Given the description of an element on the screen output the (x, y) to click on. 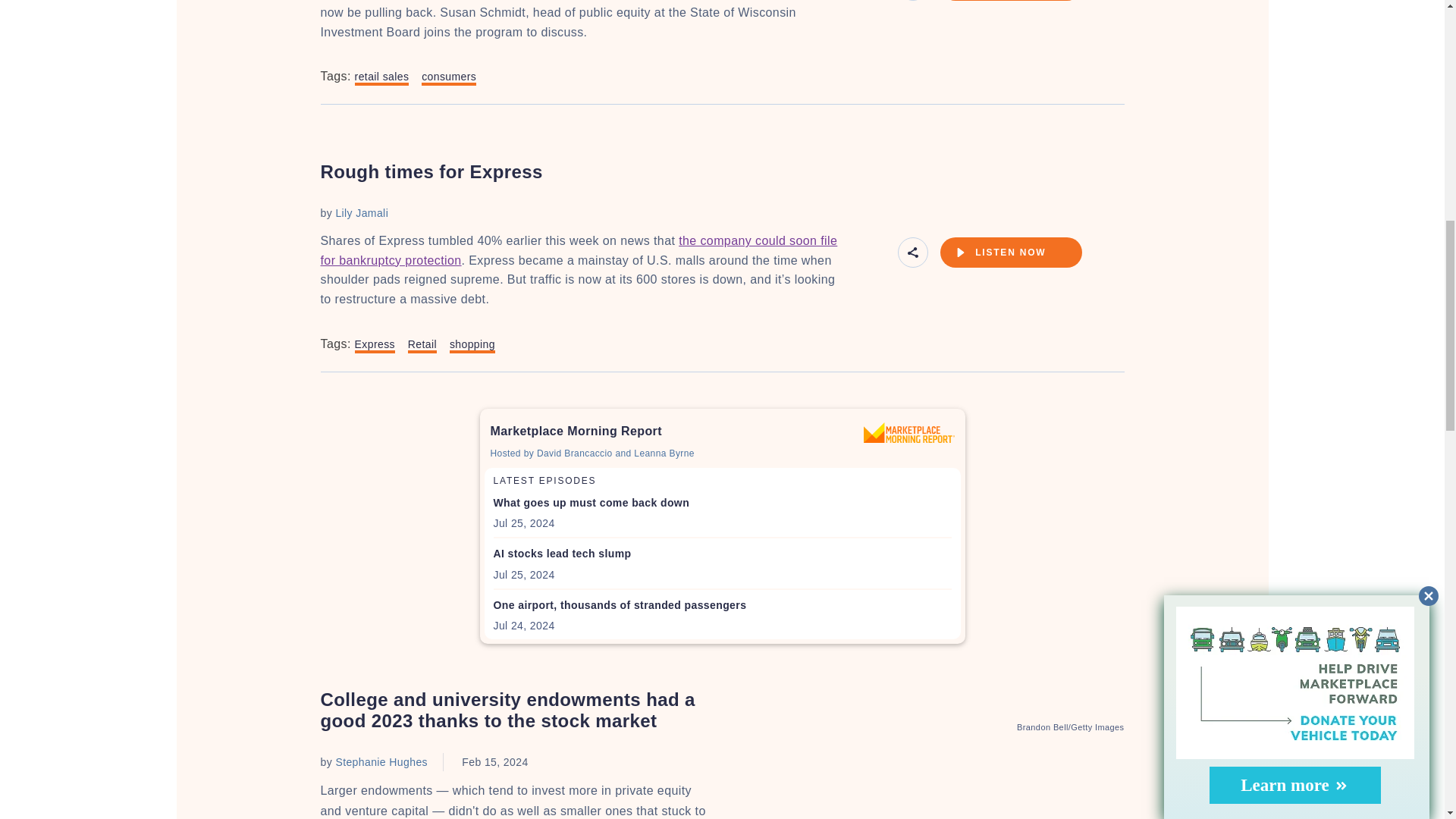
Marketplace Morning Report (908, 432)
Listen Now (1010, 252)
